Given the description of an element on the screen output the (x, y) to click on. 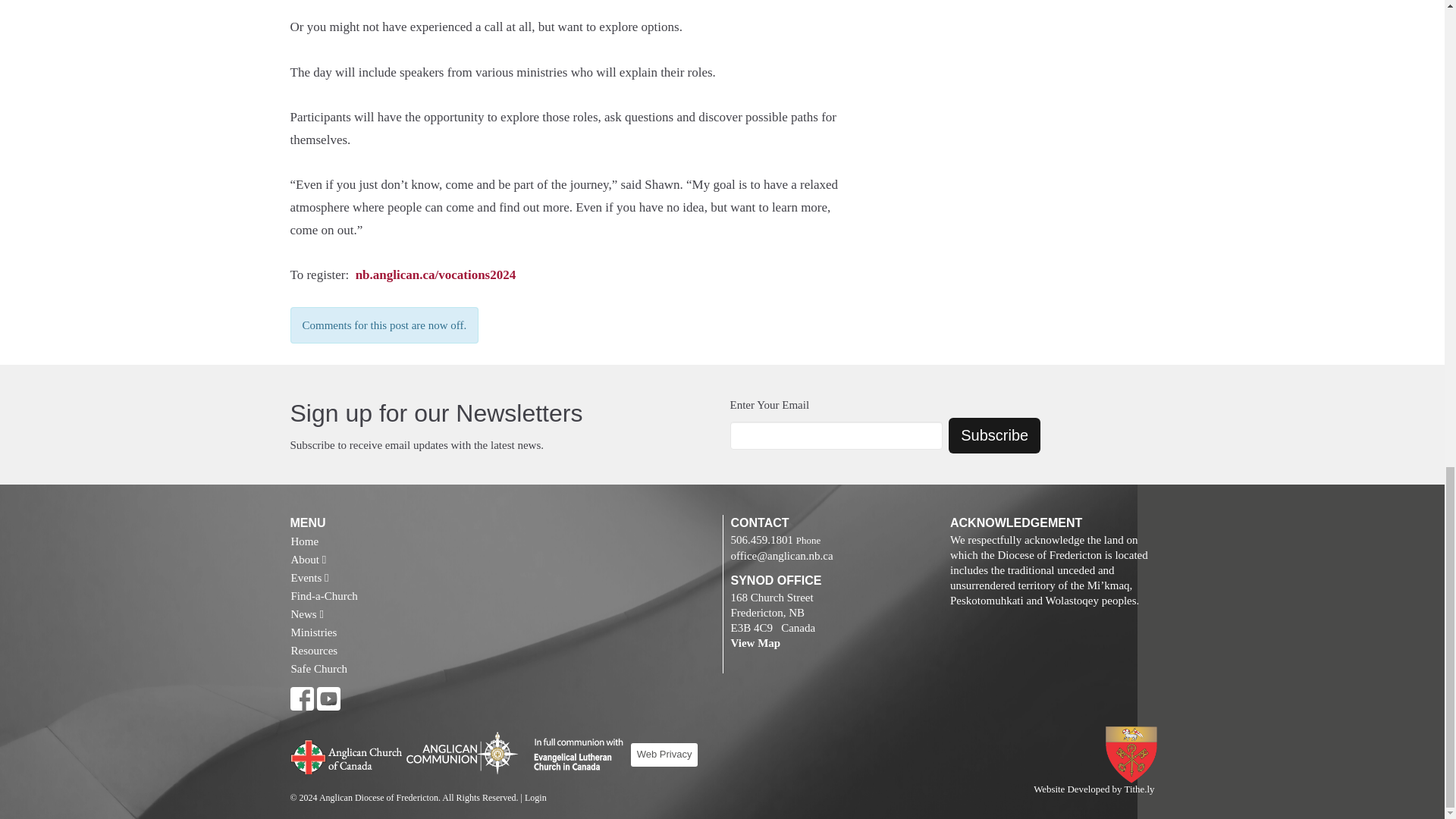
Youtube Icon (328, 698)
Facebook Icon (301, 698)
